Given the description of an element on the screen output the (x, y) to click on. 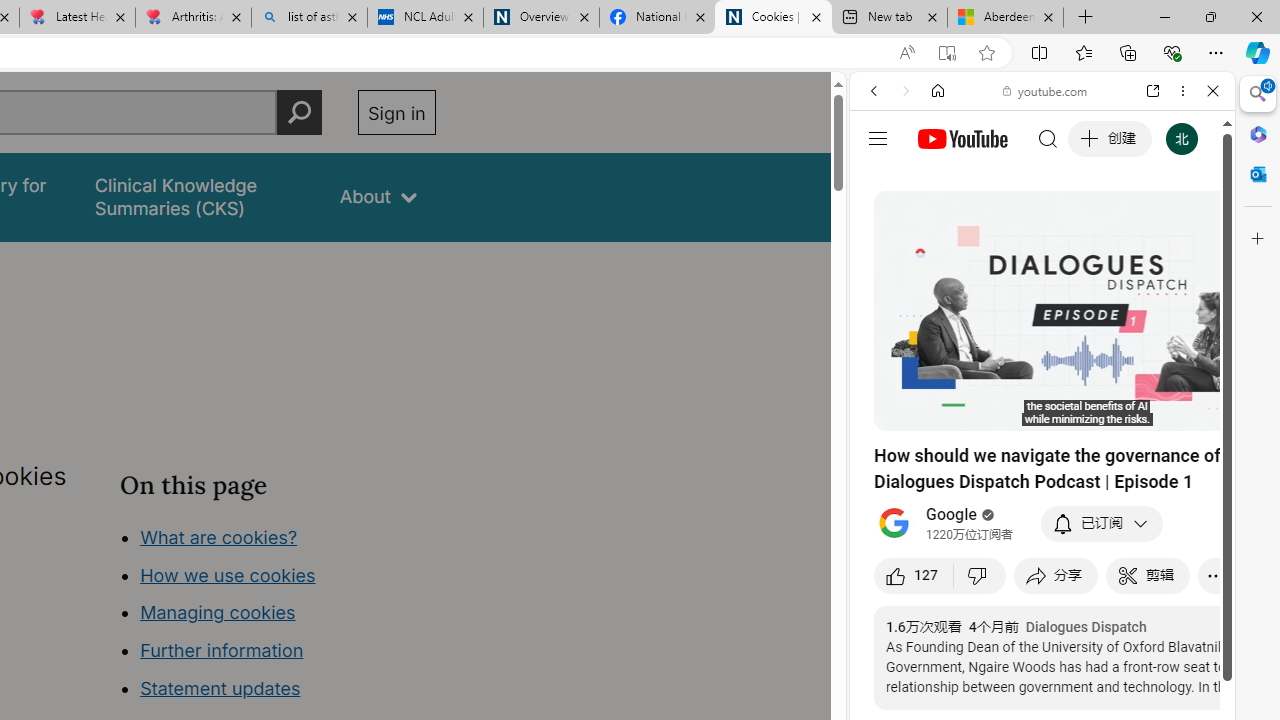
Dialogues Dispatch (1085, 627)
